Given the description of an element on the screen output the (x, y) to click on. 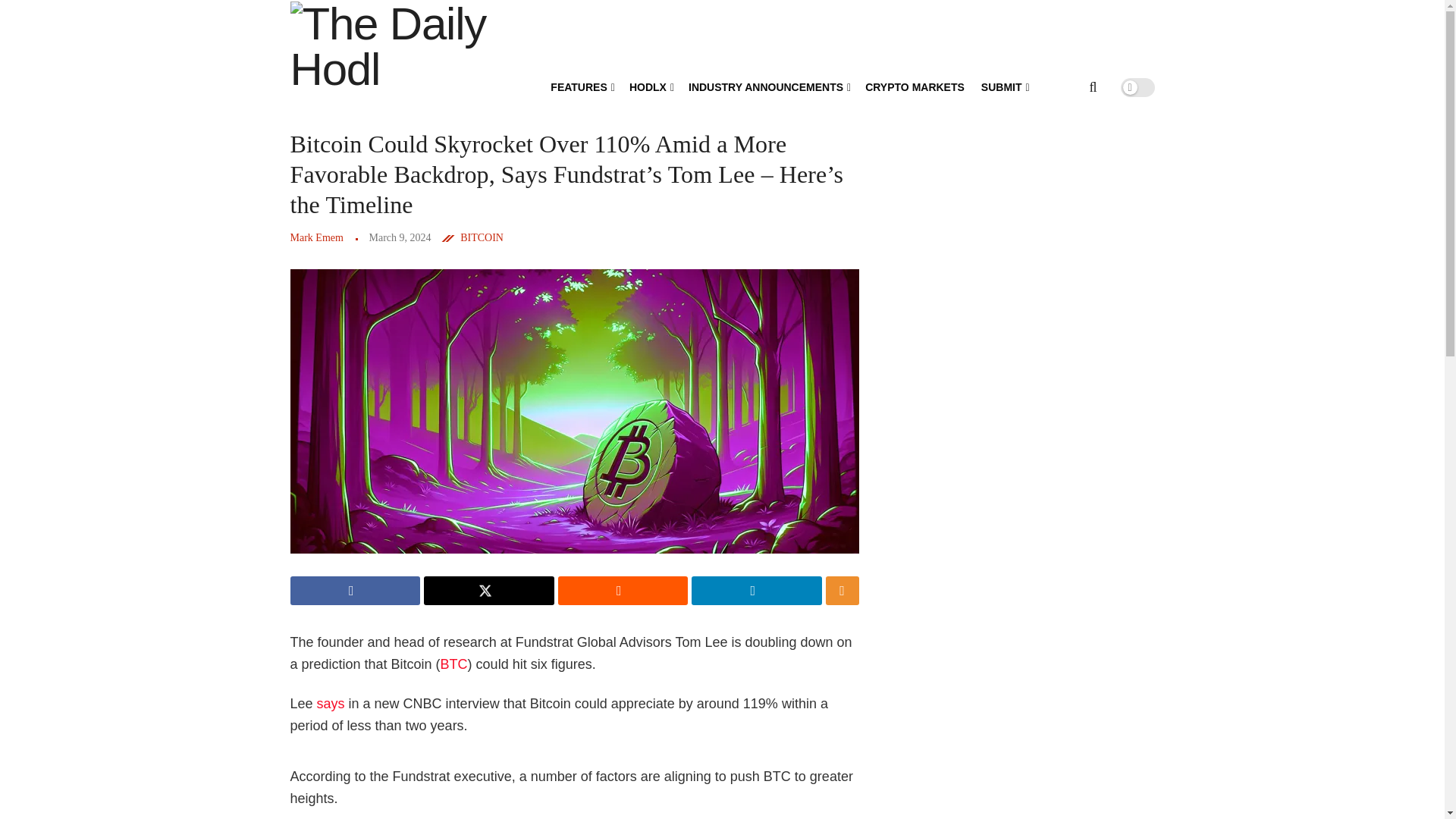
SUBMIT (1004, 86)
INDUSTRY ANNOUNCEMENTS (768, 86)
FEATURES (581, 86)
HODLX (649, 86)
CRYPTO MARKETS (913, 86)
